Given the description of an element on the screen output the (x, y) to click on. 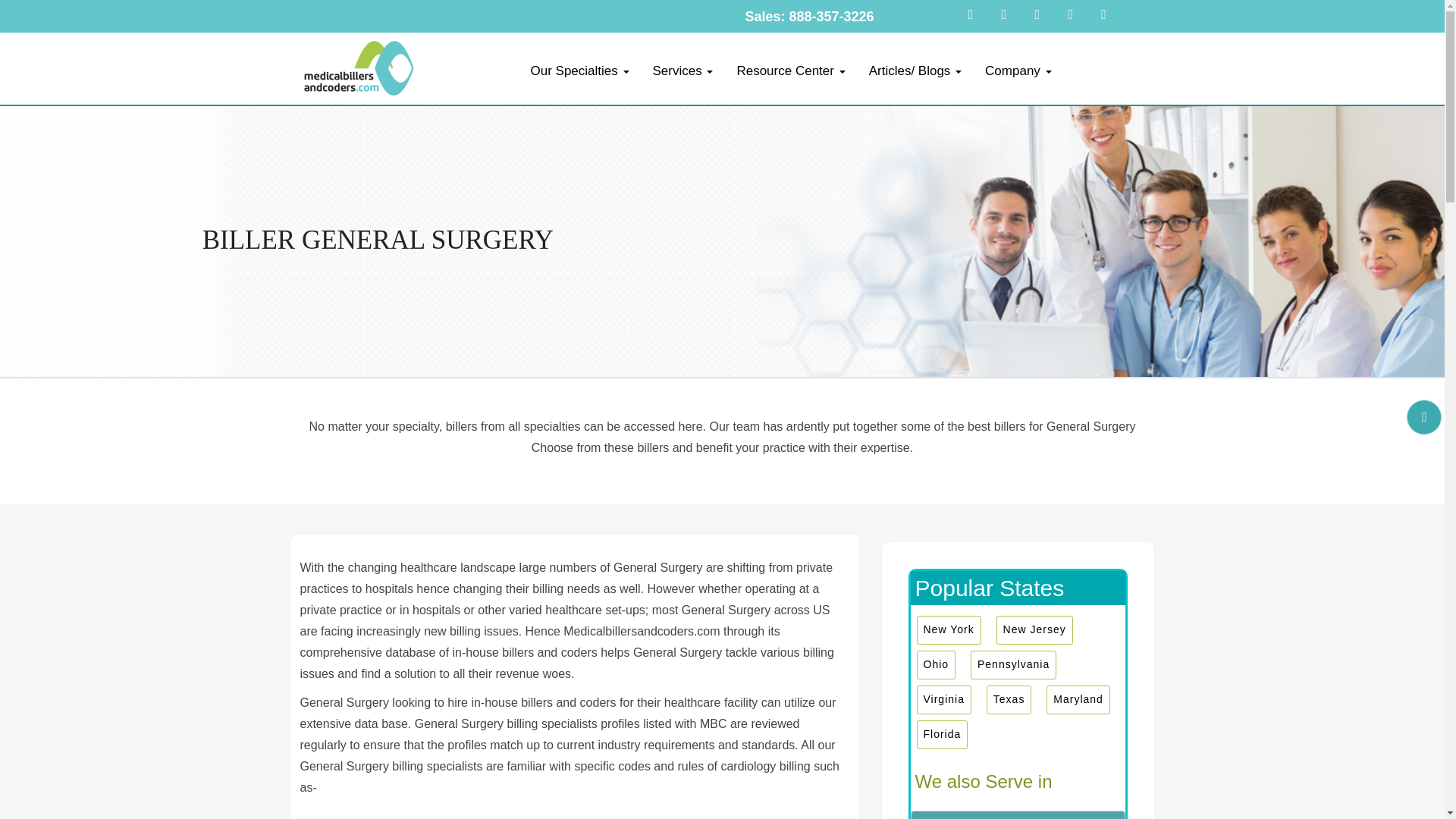
Services (681, 71)
Sales: 888-357-3226 (808, 16)
Our Specialties (579, 71)
